Given the description of an element on the screen output the (x, y) to click on. 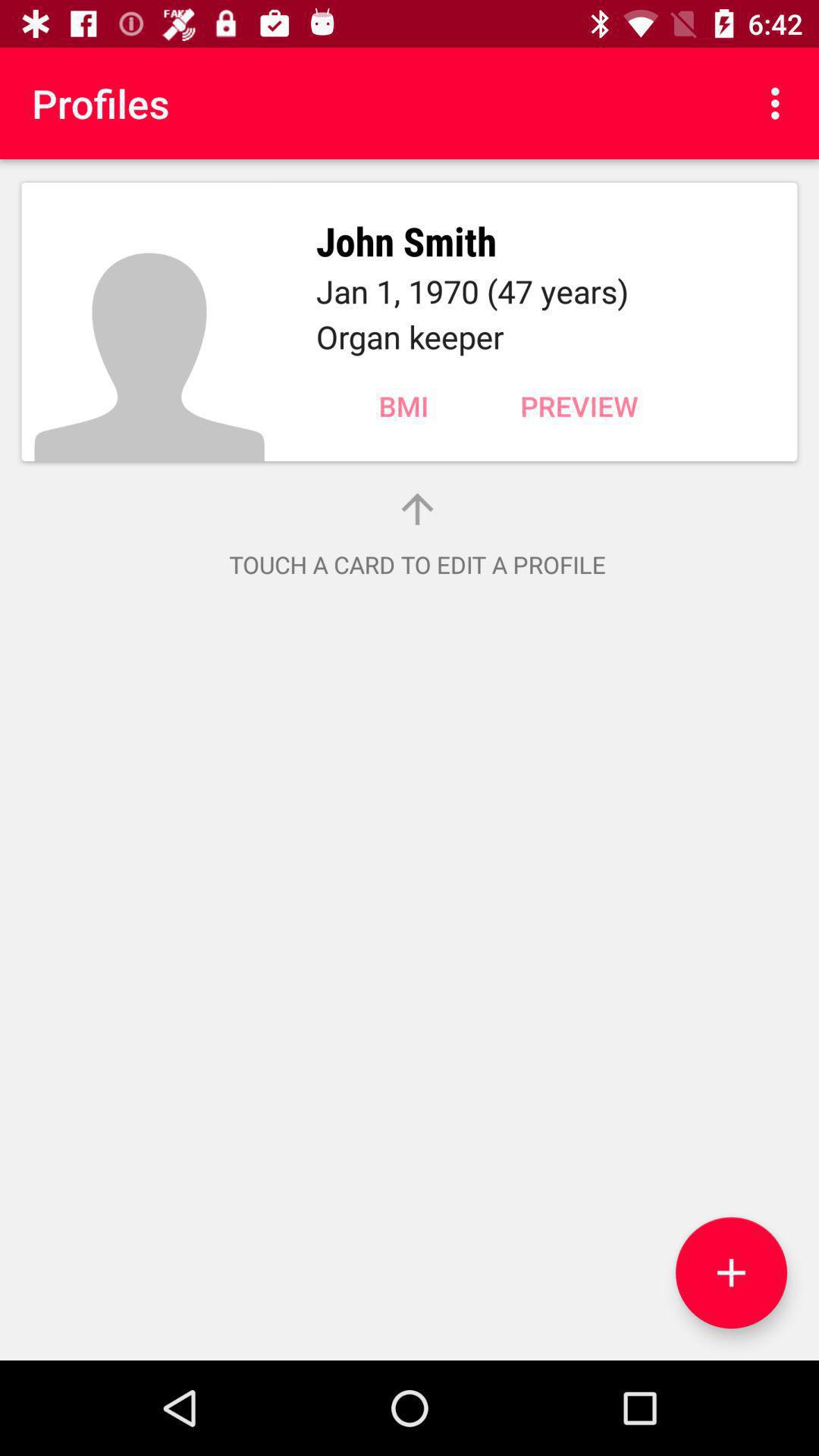
turn on bmi icon (403, 405)
